Given the description of an element on the screen output the (x, y) to click on. 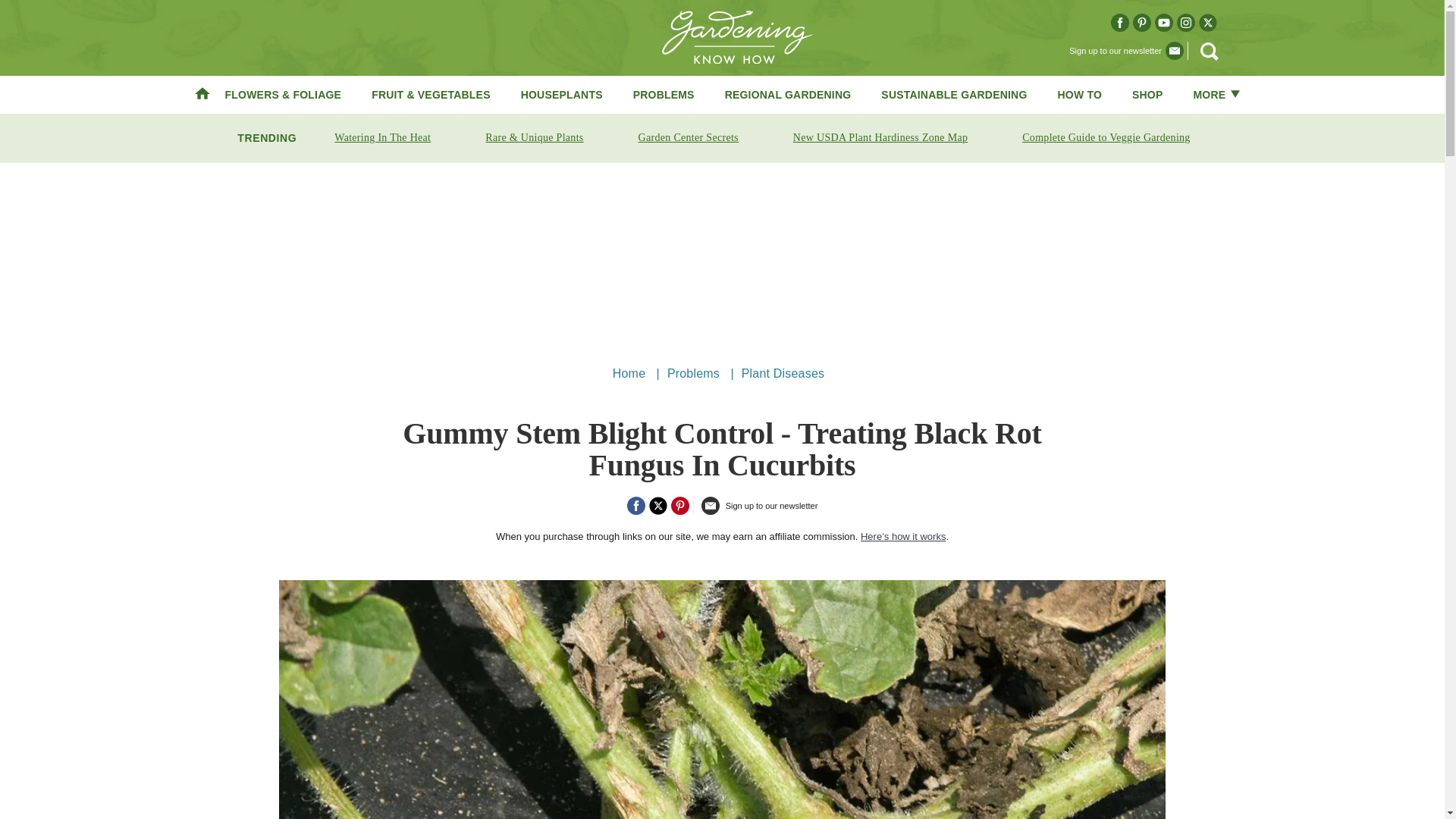
SUSTAINABLE GARDENING (953, 94)
PROBLEMS (663, 94)
REGIONAL GARDENING (788, 94)
HOUSEPLANTS (561, 94)
HOW TO (1080, 94)
